Given the description of an element on the screen output the (x, y) to click on. 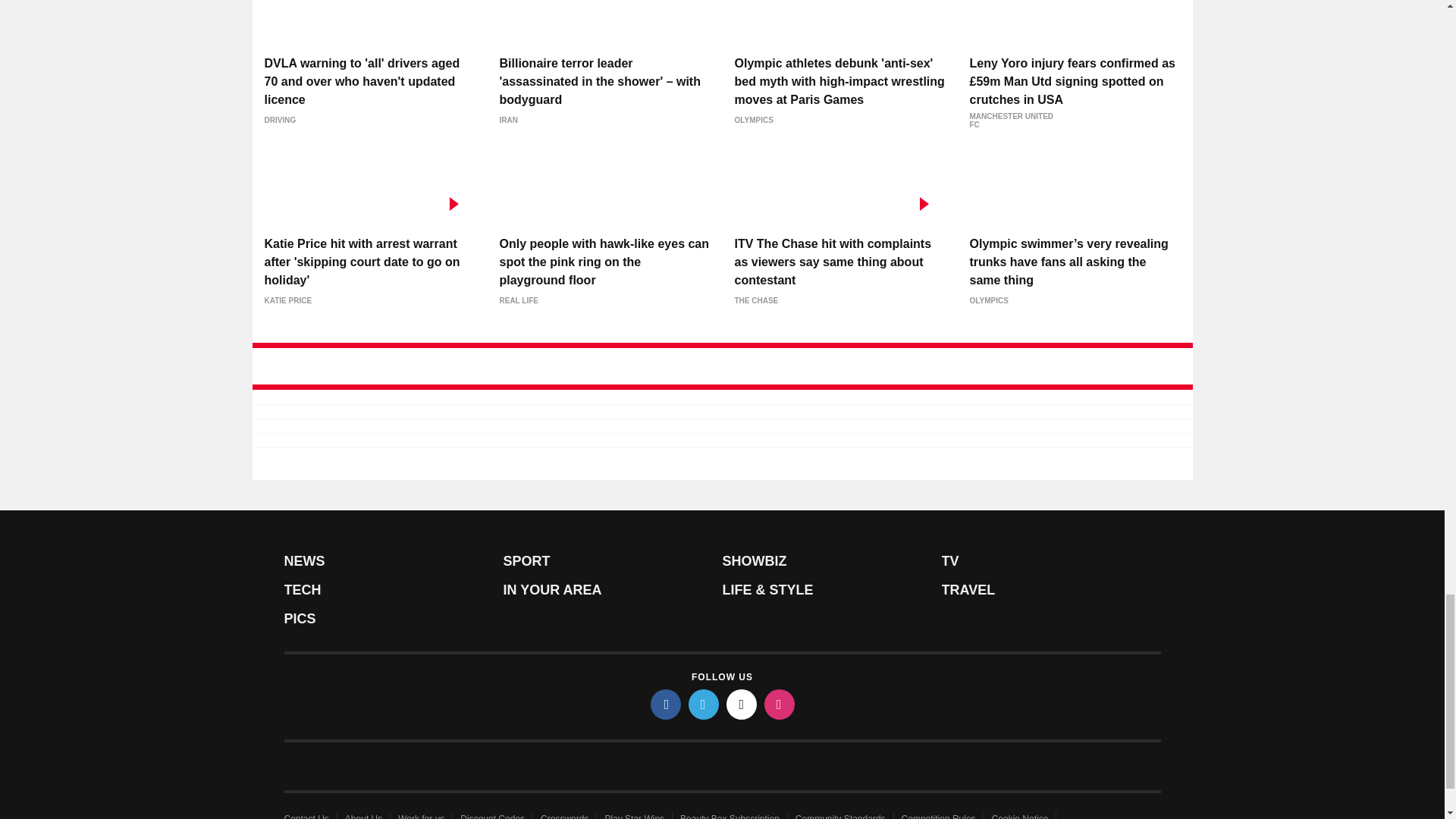
facebook (665, 704)
twitter (703, 704)
instagram (779, 704)
tiktok (741, 704)
